Given the description of an element on the screen output the (x, y) to click on. 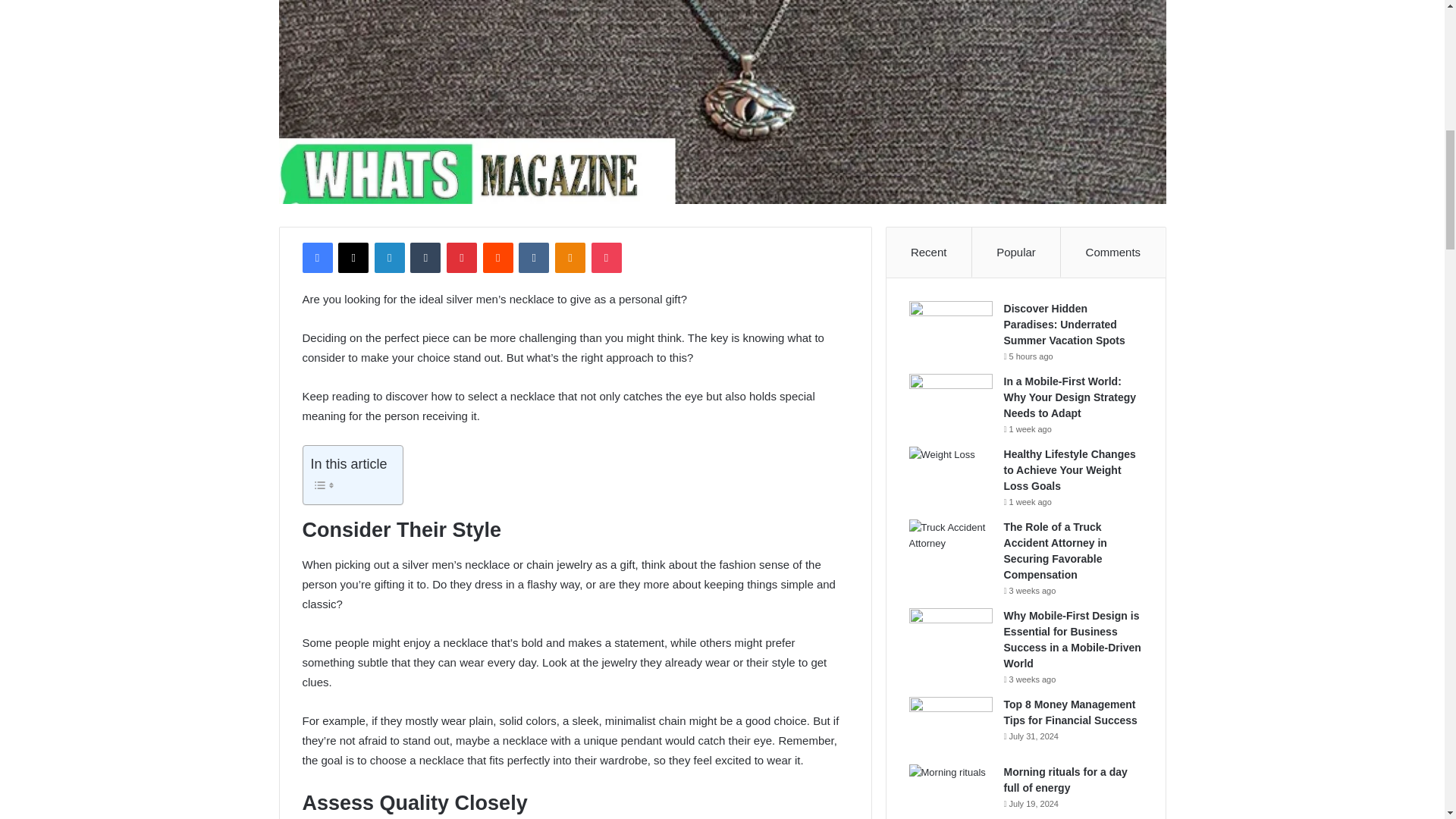
Tumblr (425, 257)
Facebook (316, 257)
LinkedIn (389, 257)
X (352, 257)
Pinterest (461, 257)
